Given the description of an element on the screen output the (x, y) to click on. 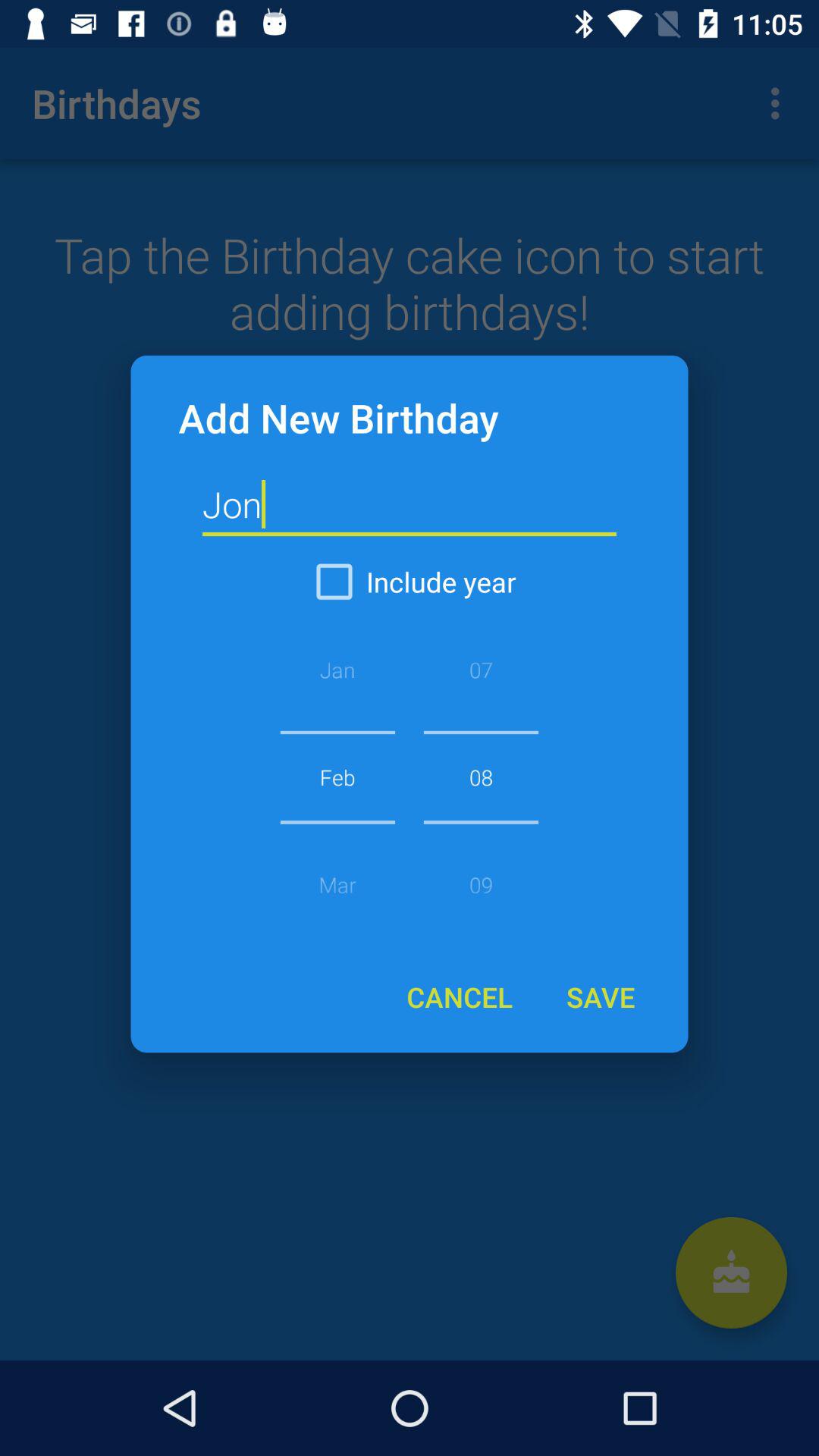
choose the item above the cancel icon (480, 776)
